Given the description of an element on the screen output the (x, y) to click on. 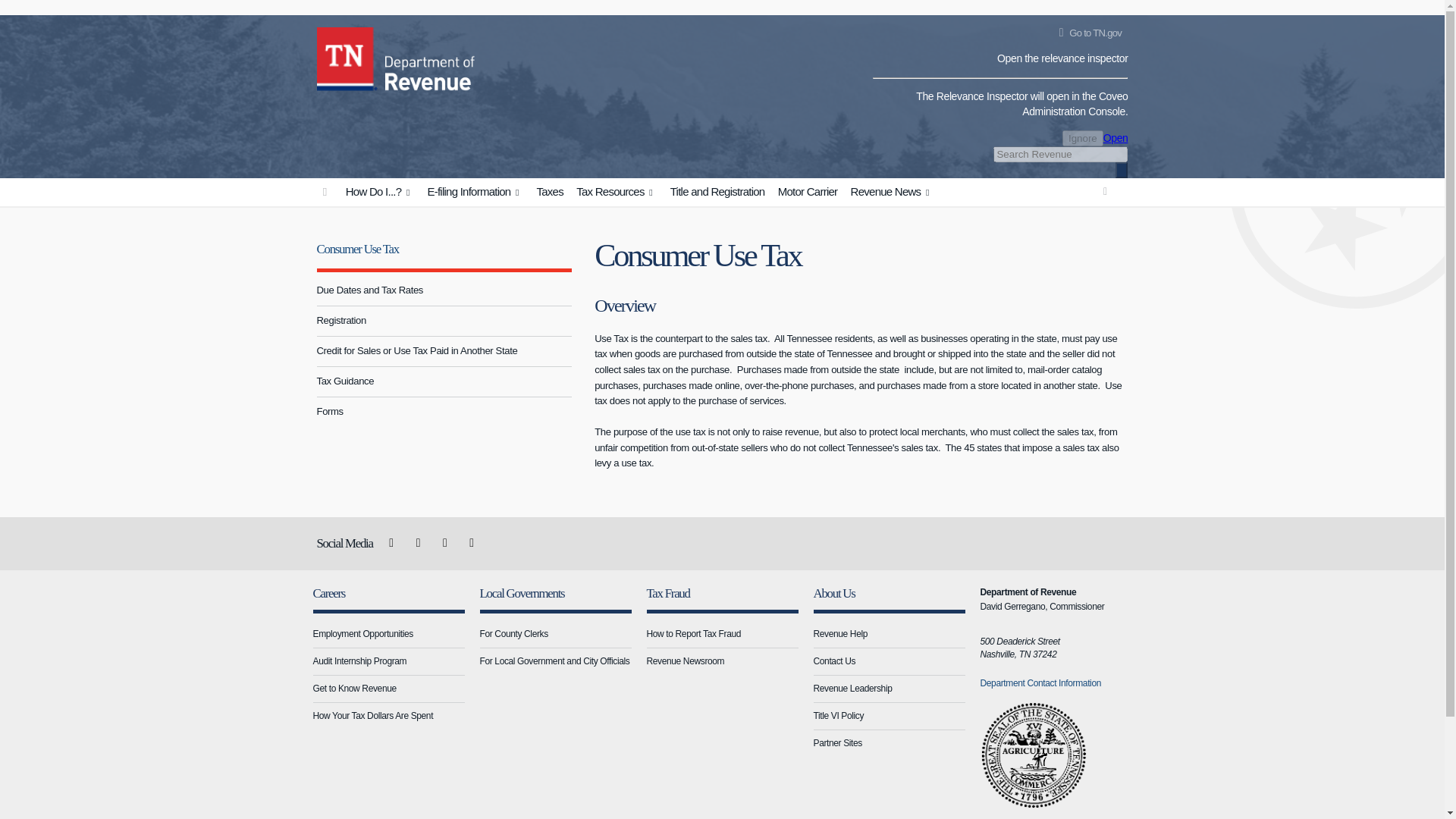
Taxes (549, 192)
Tax Resources (616, 192)
How Do I...? (379, 192)
Go to Revenue (324, 192)
E-filing Information (475, 192)
Title and Registration (717, 192)
Due Dates and Tax Rates (444, 290)
Registration (444, 320)
Print This Page (1105, 191)
Consumer Use Tax (357, 248)
Revenue News (892, 192)
Home (347, 56)
Motor Carrier (808, 192)
Go to TN.gov (1086, 33)
